Given the description of an element on the screen output the (x, y) to click on. 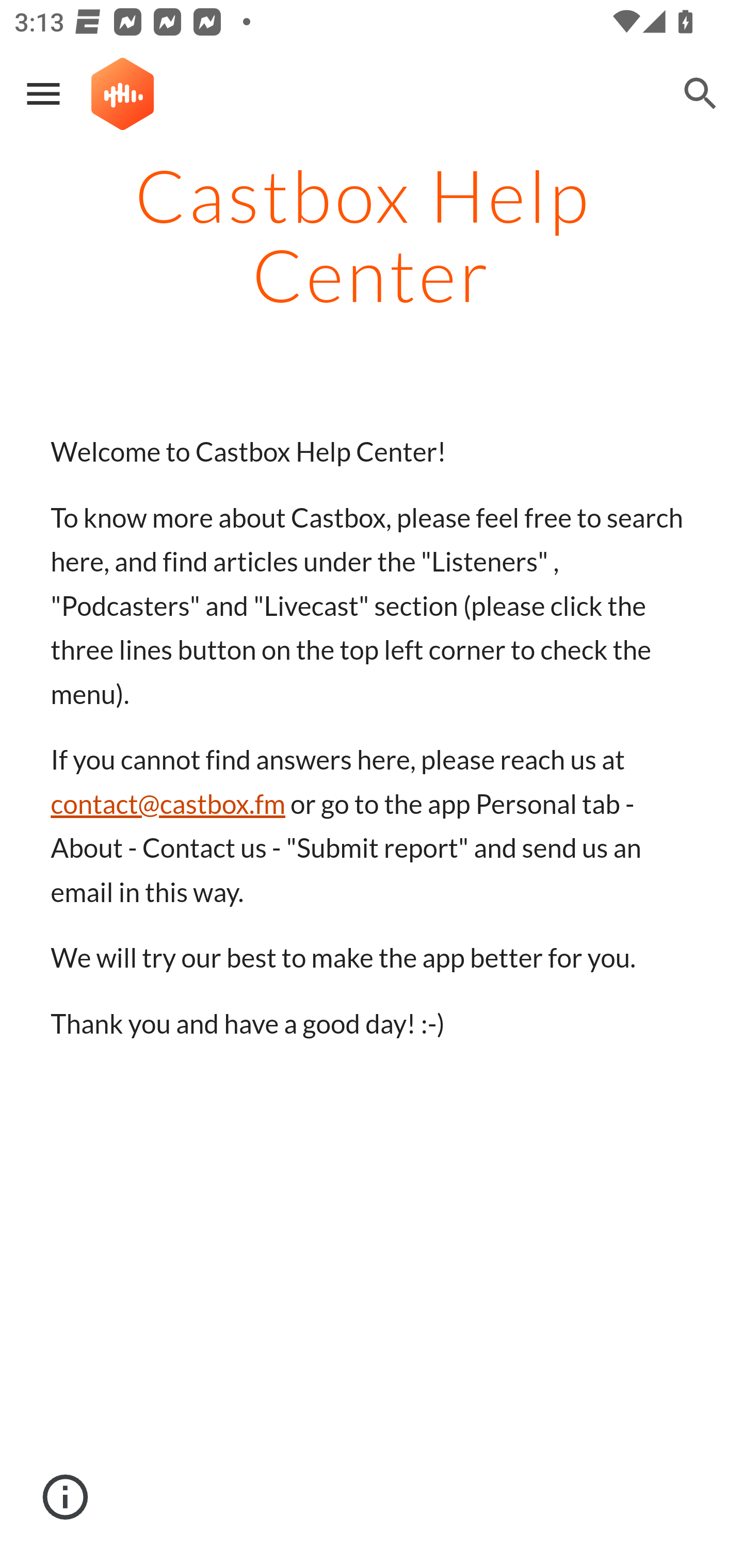
Skip to navigation (608, 109)
contact@castbox.fm (168, 804)
Site actions (65, 1497)
